Given the description of an element on the screen output the (x, y) to click on. 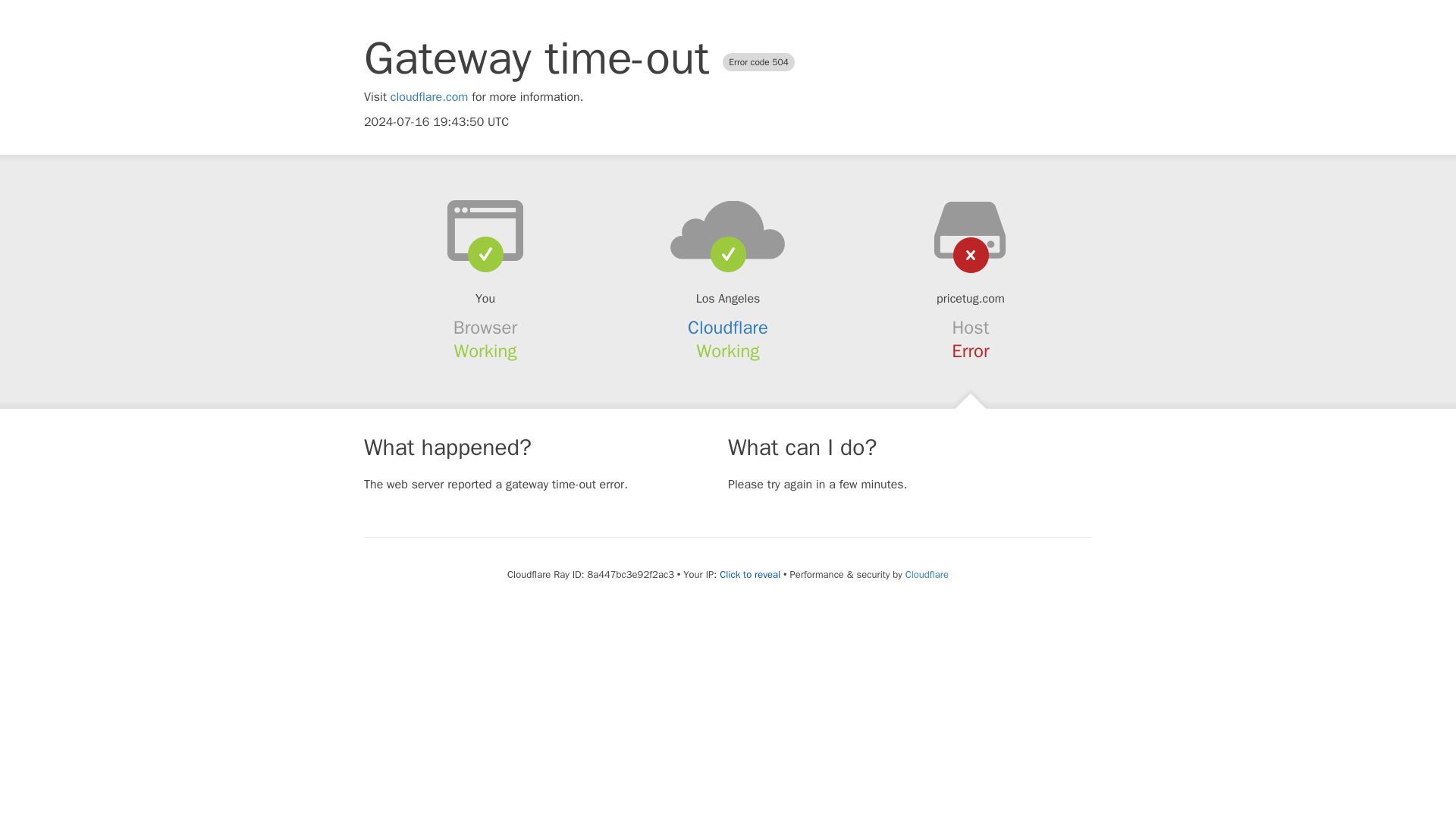
Cloudflare (927, 574)
Cloudflare (727, 327)
Click to reveal (749, 574)
cloudflare.com (429, 96)
